Given the description of an element on the screen output the (x, y) to click on. 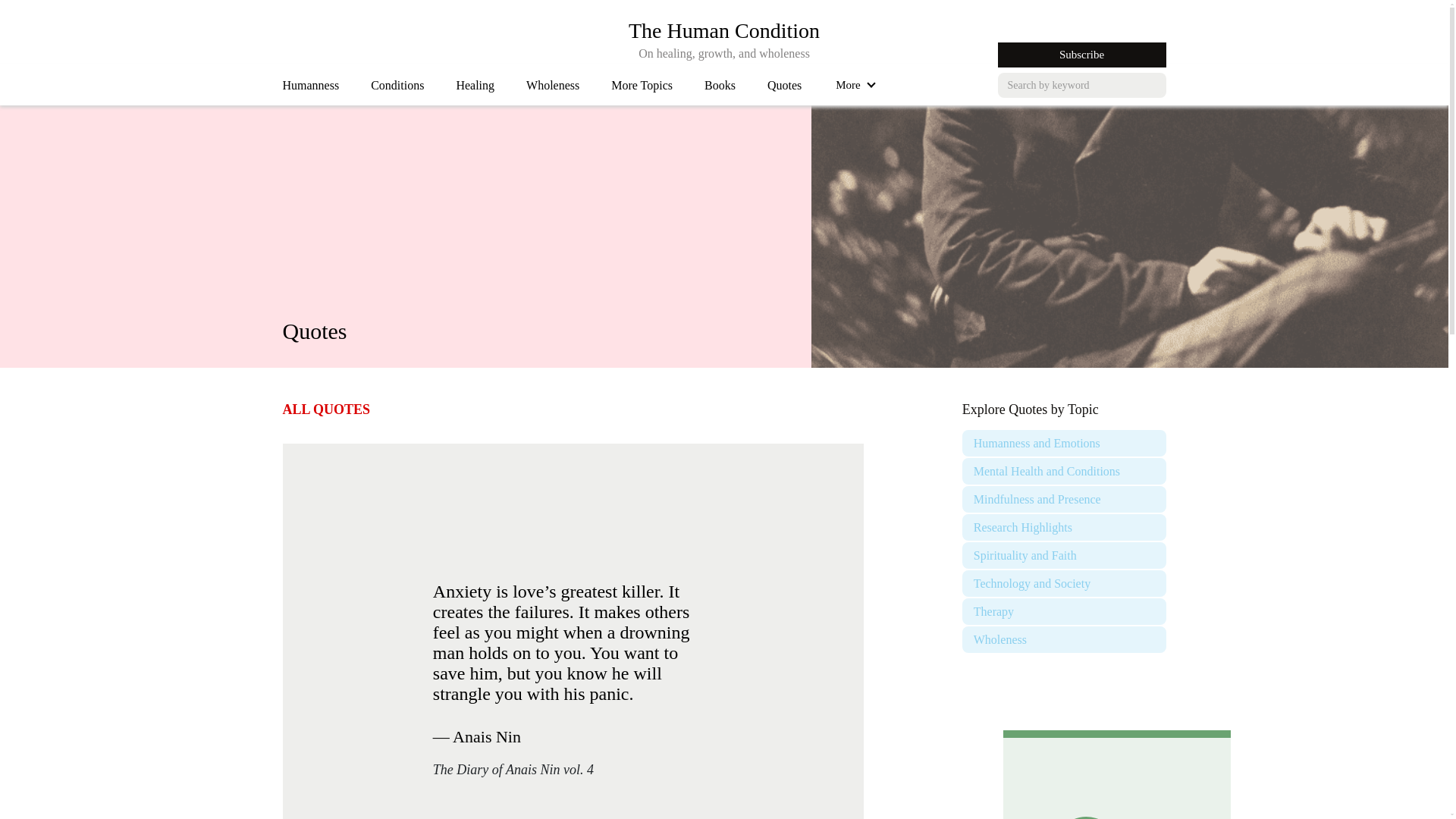
Humanness (310, 88)
Healing (475, 88)
Conditions (723, 29)
More Topics (397, 88)
Wholeness (641, 88)
